Given the description of an element on the screen output the (x, y) to click on. 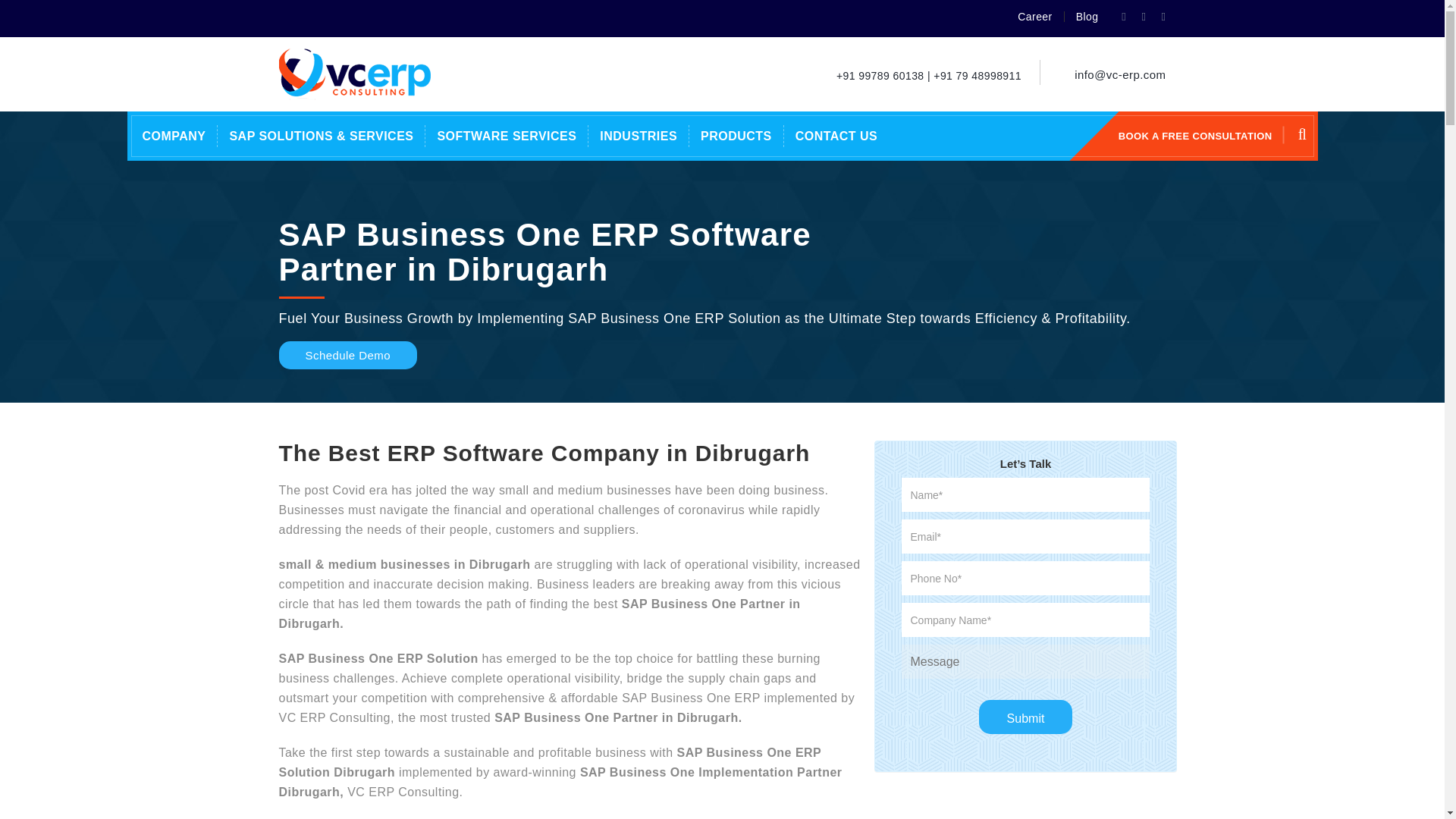
Submit (1025, 716)
Blog (1087, 16)
Career (1034, 16)
COMPANY (173, 136)
